Given the description of an element on the screen output the (x, y) to click on. 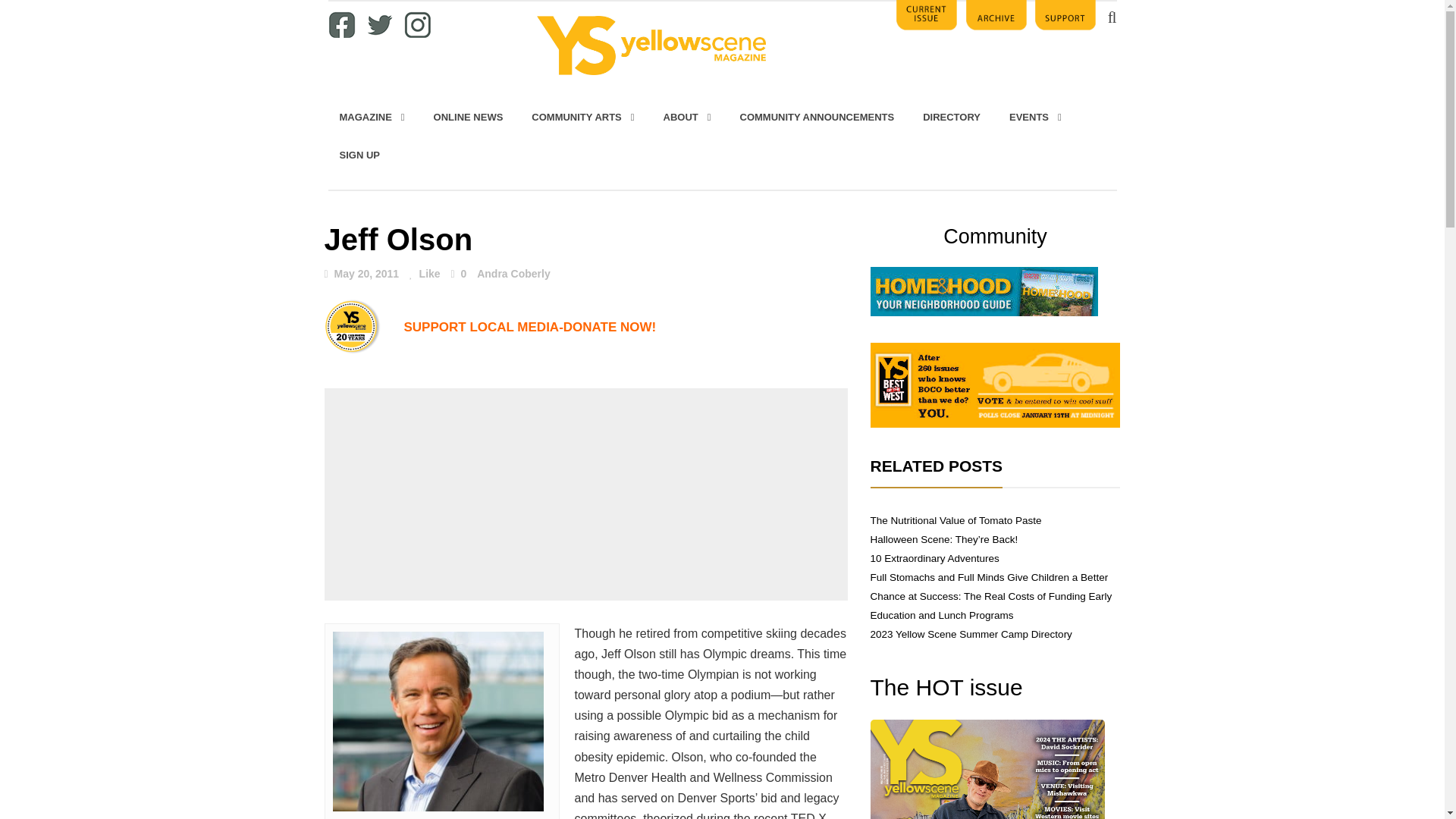
Posts by Andra Coberly (513, 273)
May 2024 (987, 769)
MAGAZINE (370, 117)
ONLINE NEWS (468, 117)
ABOUT (687, 117)
COMMUNITY ARTS (582, 117)
COMMUNITY ANNOUNCEMENTS (816, 117)
Advertisement (585, 494)
Like (425, 274)
